Given the description of an element on the screen output the (x, y) to click on. 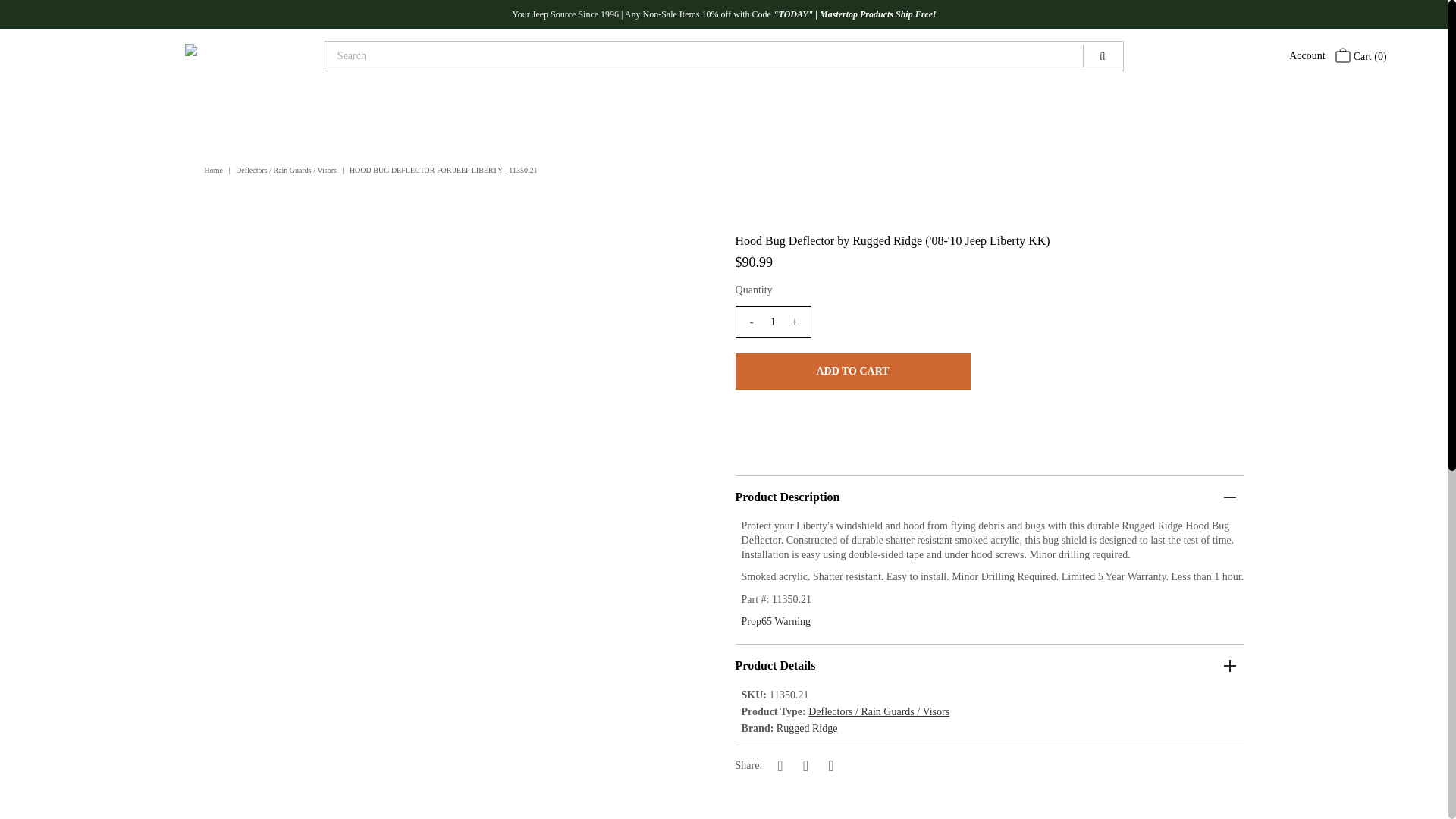
Share on Pinterest (831, 765)
Mastertop Products Ship Free! (877, 14)
- (751, 322)
Rugged Ridge (807, 727)
Home (216, 170)
Add to Cart (1220, 772)
Prop65 Warning (775, 621)
Account (1306, 55)
Add to Cart (853, 370)
Share on Facebook (780, 765)
Product Description (989, 496)
Add to Cart (853, 370)
1 (772, 322)
Mastertop Free Shipping (877, 14)
Product Details (989, 664)
